Given the description of an element on the screen output the (x, y) to click on. 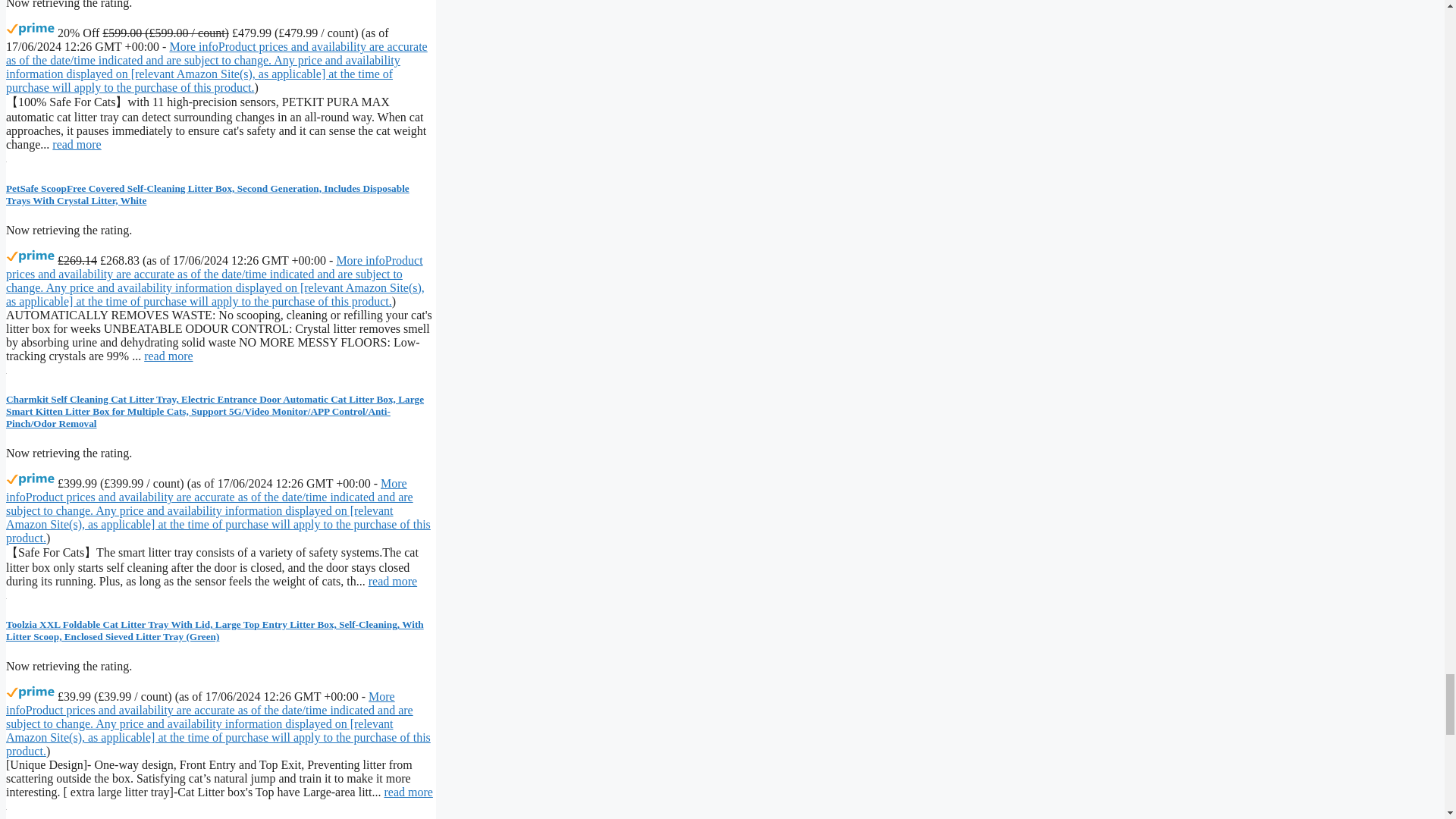
Available for Amazon Prime (30, 29)
Available for Amazon Prime (30, 479)
Available for Amazon Prime (30, 256)
Available for Amazon Prime (30, 693)
